Given the description of an element on the screen output the (x, y) to click on. 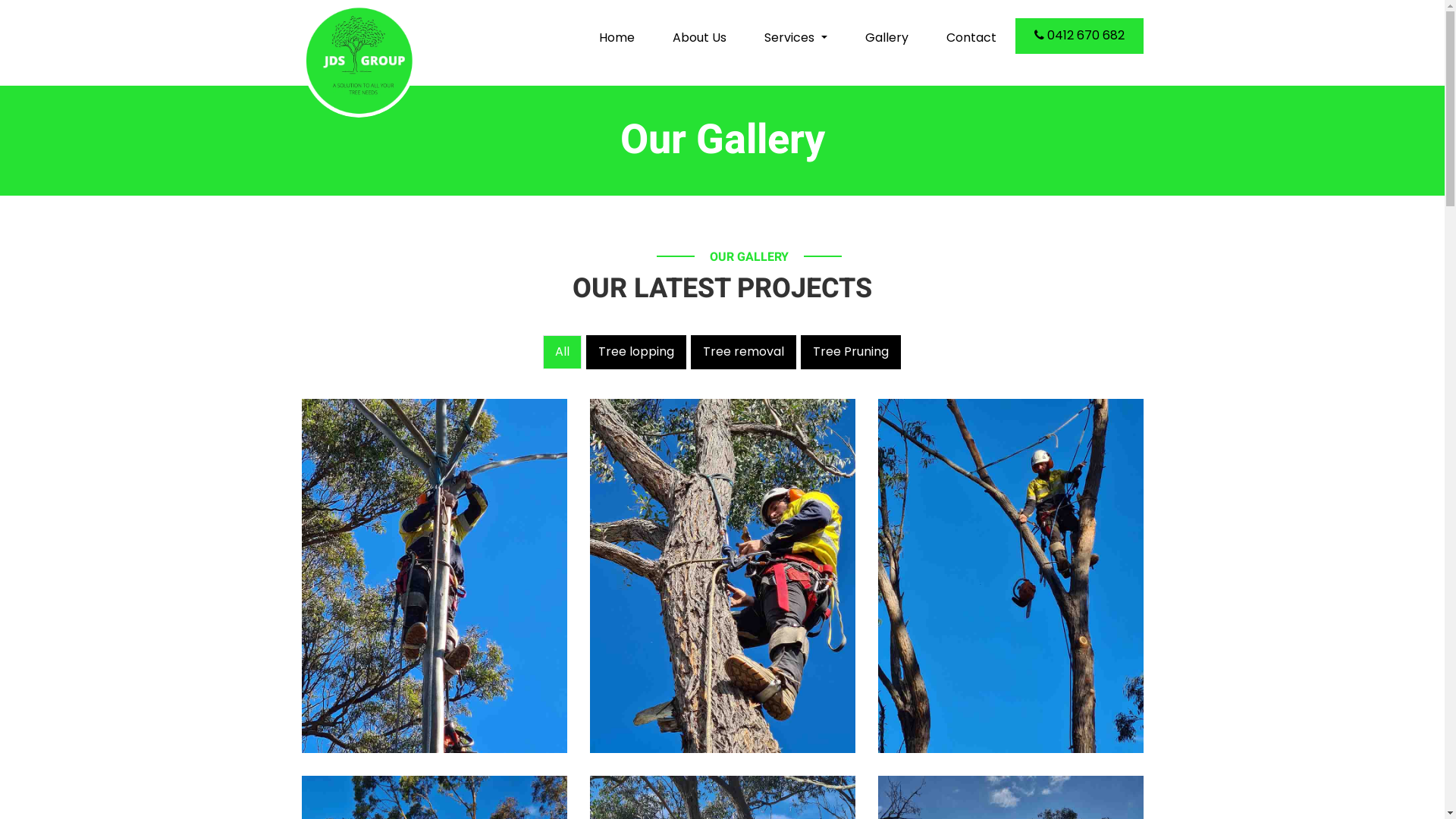
Tree removal Element type: text (742, 352)
About Us Element type: text (699, 37)
Services Element type: text (795, 37)
0412 670 682 Element type: text (1078, 34)
All Element type: text (561, 352)
Home Element type: text (616, 37)
Tree Pruning Element type: text (850, 352)
Contact Element type: text (970, 37)
Tree lopping Element type: text (635, 352)
Gallery Element type: text (886, 37)
